Given the description of an element on the screen output the (x, y) to click on. 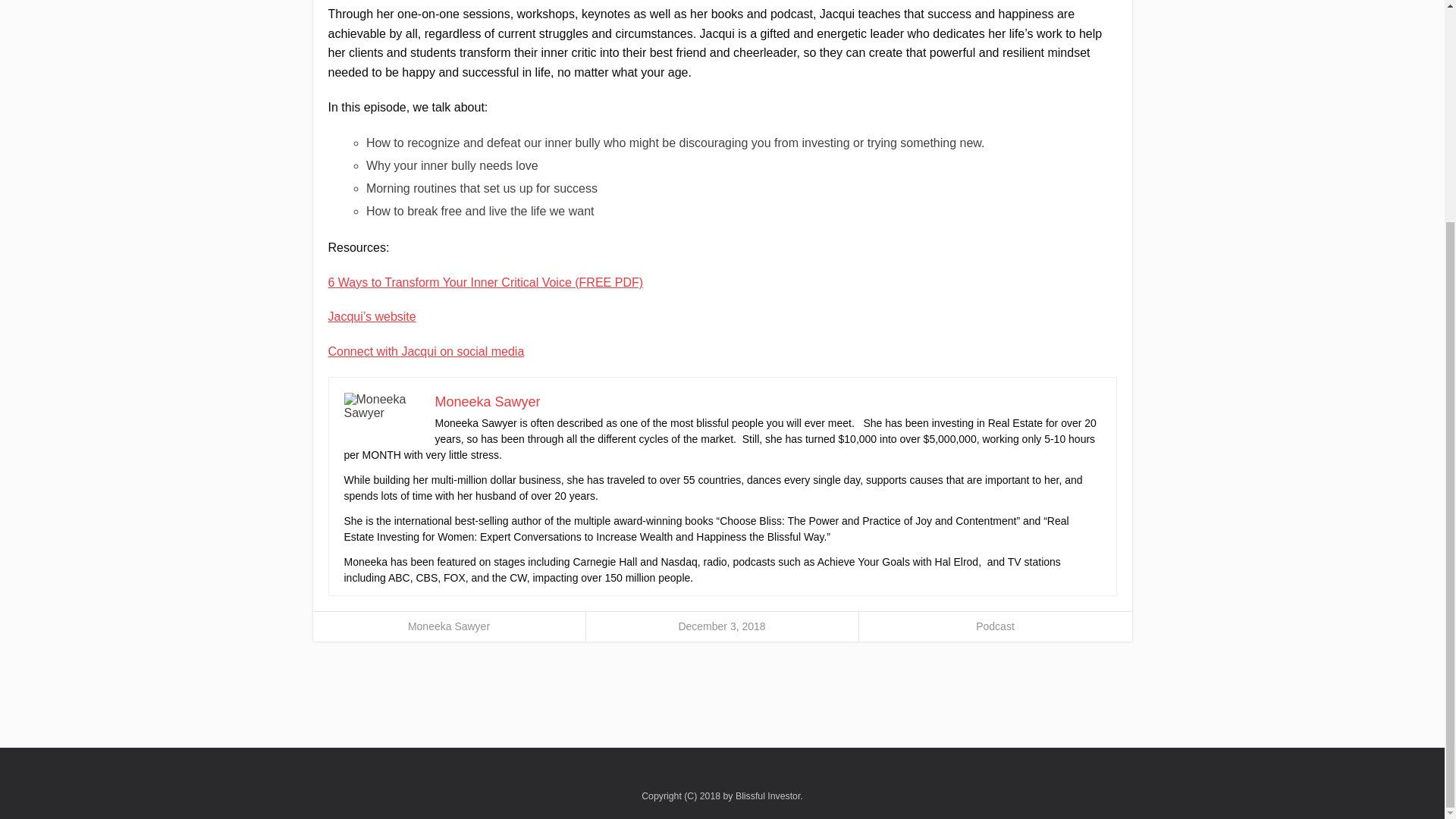
Moneeka Sawyer (448, 625)
Moneeka Sawyer (487, 401)
Connect with Jacqui on social media (425, 350)
Podcast (994, 625)
